Given the description of an element on the screen output the (x, y) to click on. 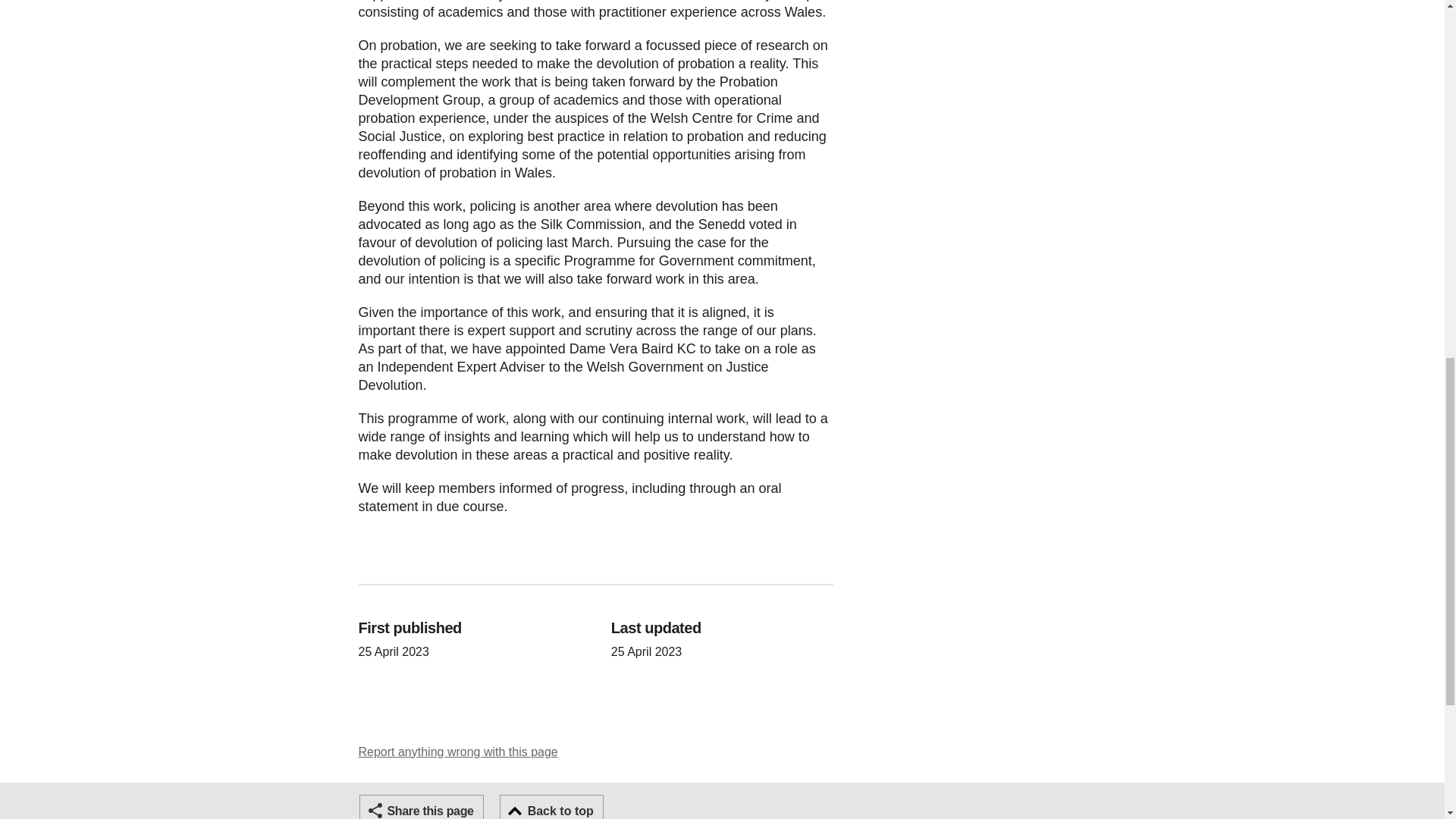
Report anything wrong with this page (457, 751)
Share this page (421, 806)
Back to top (551, 806)
